Given the description of an element on the screen output the (x, y) to click on. 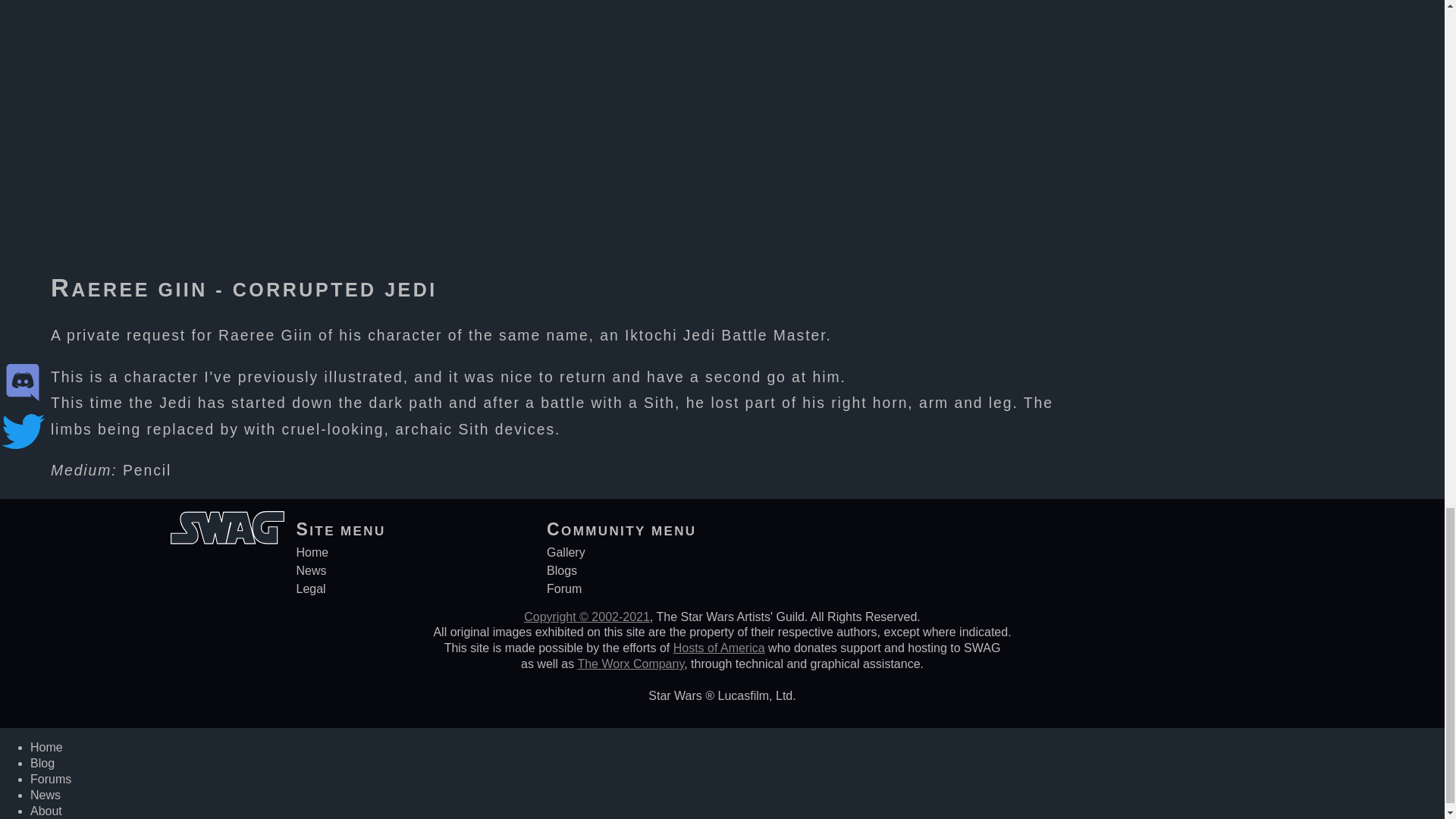
Home (46, 747)
Blogs (561, 570)
The Worx Company (630, 663)
Legal (309, 588)
Hosts of America (718, 647)
Gallery (566, 552)
Home (312, 552)
Forum (563, 588)
Blog (42, 762)
News (310, 570)
